Given the description of an element on the screen output the (x, y) to click on. 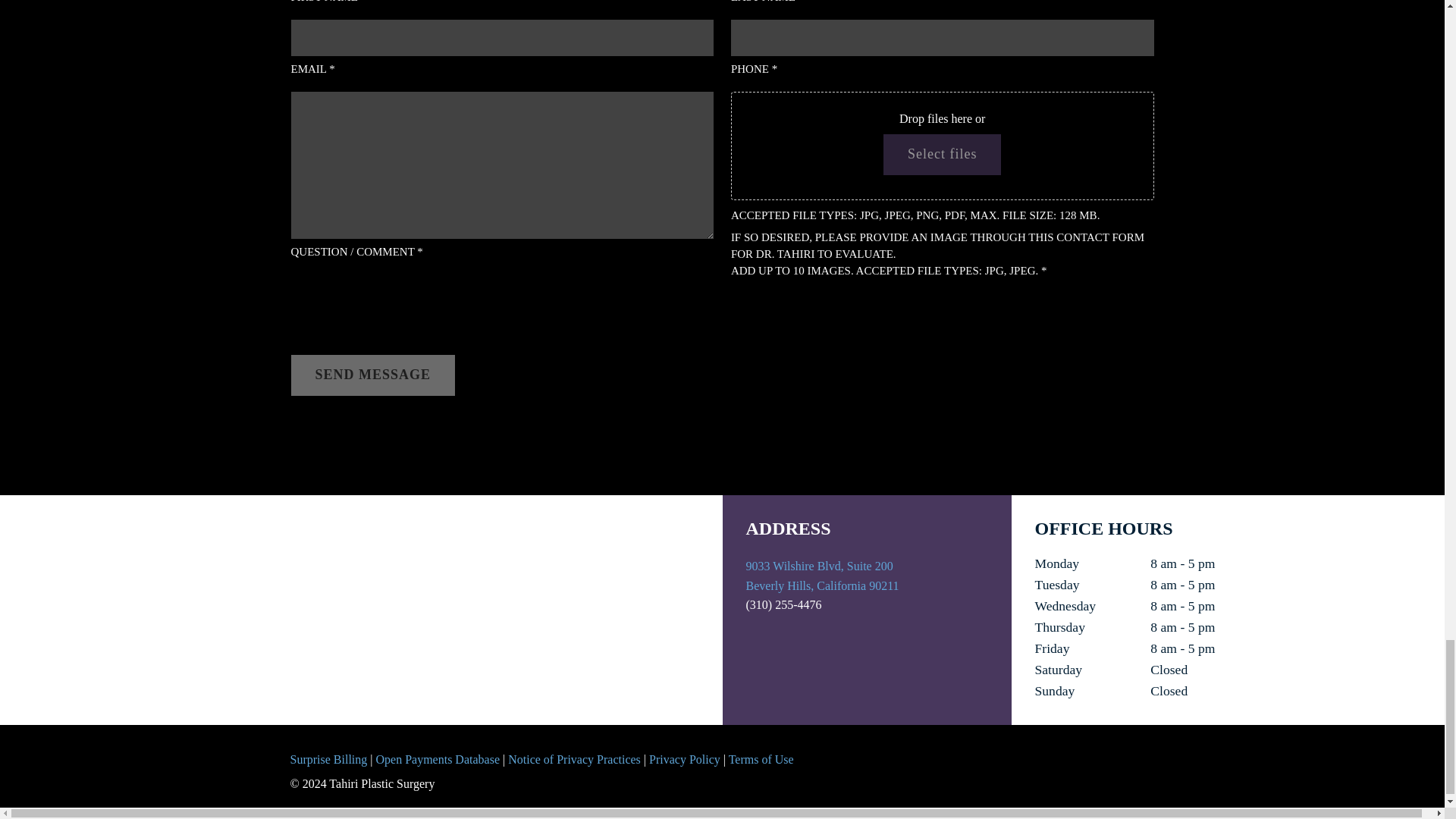
SEND MESSAGE (373, 374)
Facebook (914, 757)
Linkedin (1017, 757)
Skype (1122, 757)
Twitter (965, 757)
Instagram (1069, 757)
